Given the description of an element on the screen output the (x, y) to click on. 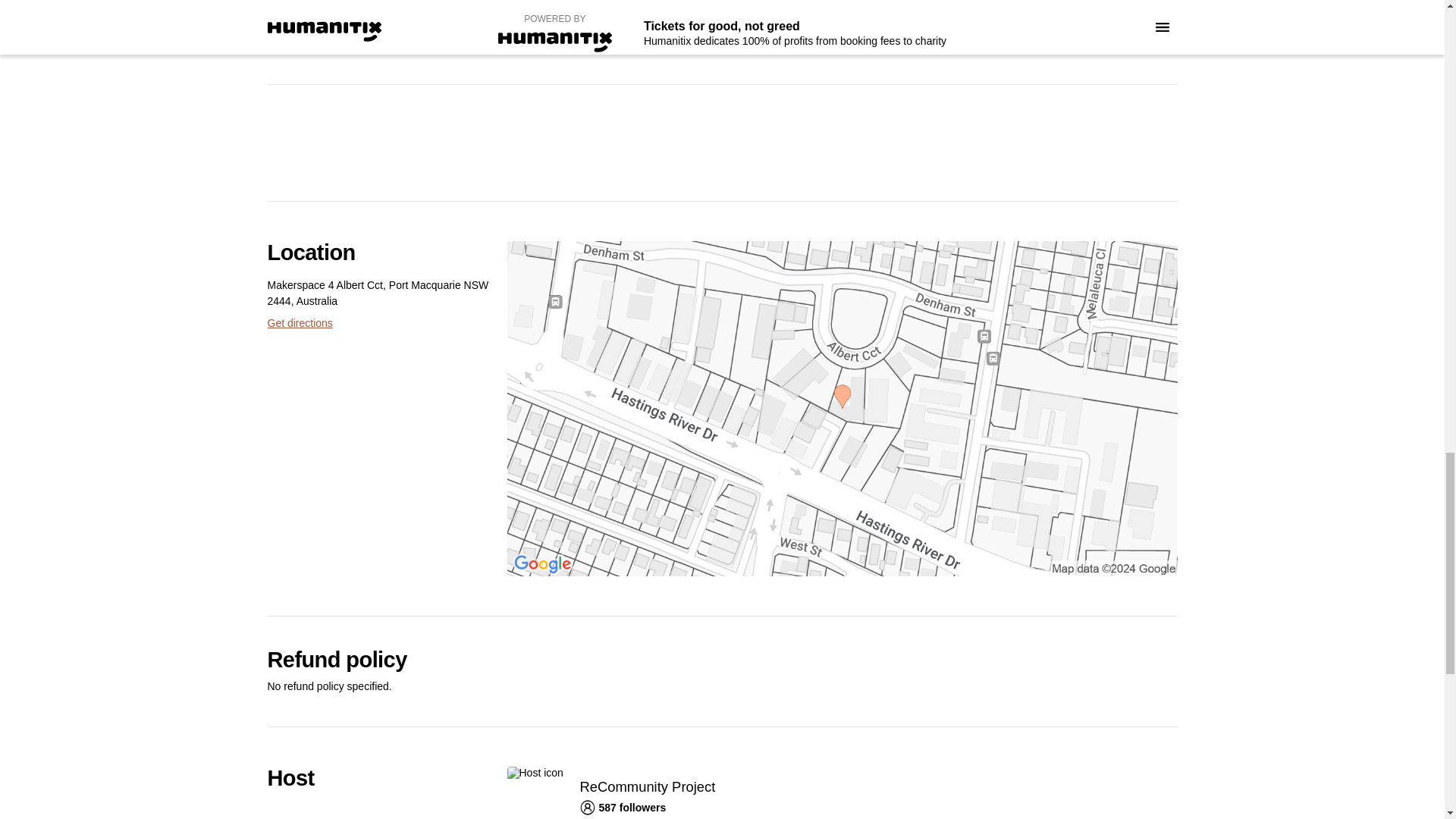
Get directions (298, 322)
